Given the description of an element on the screen output the (x, y) to click on. 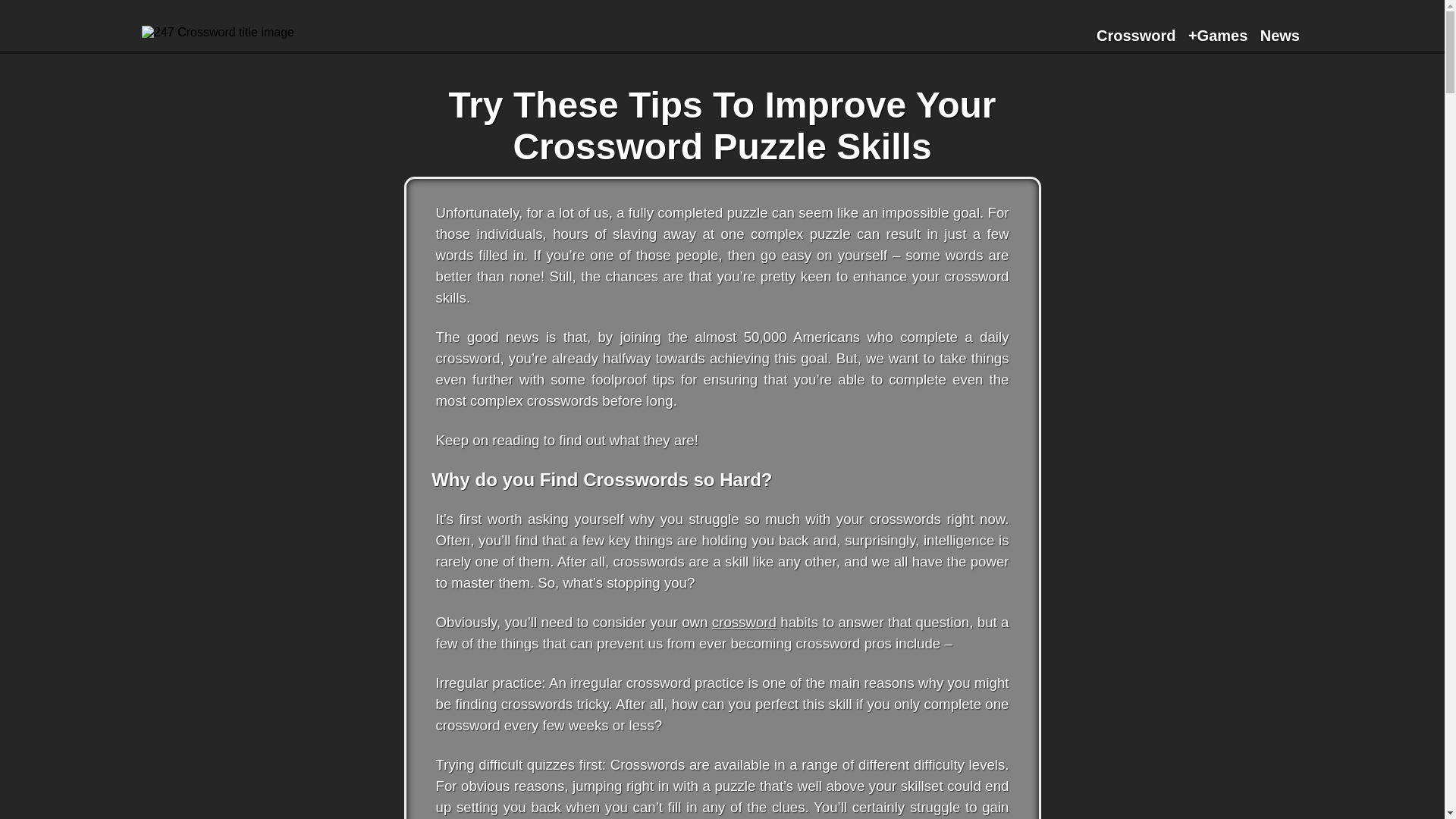
News (1280, 36)
crossword (743, 621)
Crossword (1135, 36)
